Given the description of an element on the screen output the (x, y) to click on. 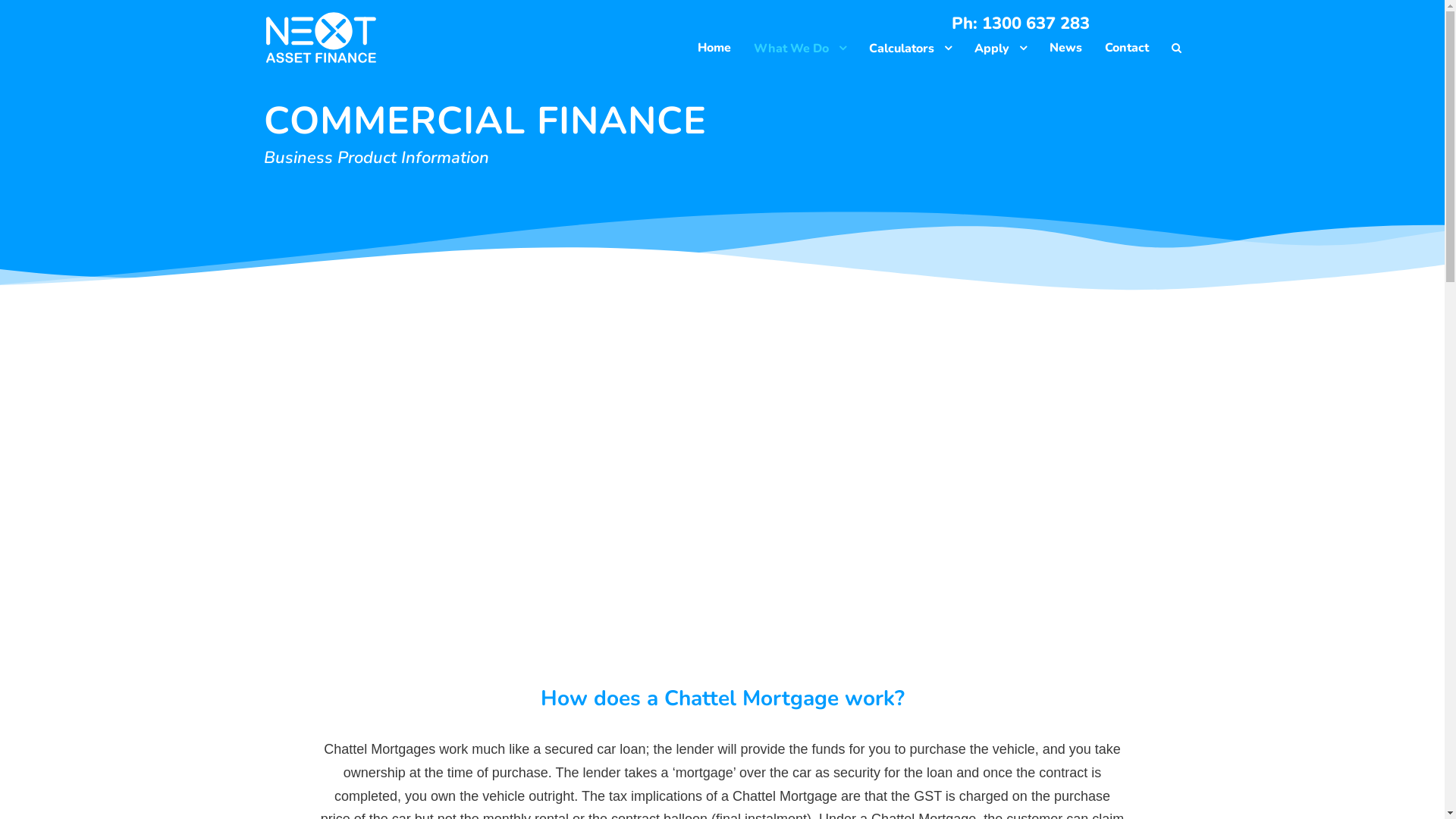
Next-Asset-Finance-Logo-Release-01 Element type: hover (320, 37)
News Element type: text (1065, 51)
Contact Element type: text (1126, 51)
Ph: 1300 637 283 Element type: text (1019, 23)
Calculators Element type: text (910, 51)
Apply Element type: text (999, 51)
Privacy Policy Element type: text (528, 752)
Credit Guide Element type: text (525, 733)
Home Element type: text (714, 51)
What We Do Element type: text (799, 51)
Terms Of Service Element type: text (535, 772)
